Given the description of an element on the screen output the (x, y) to click on. 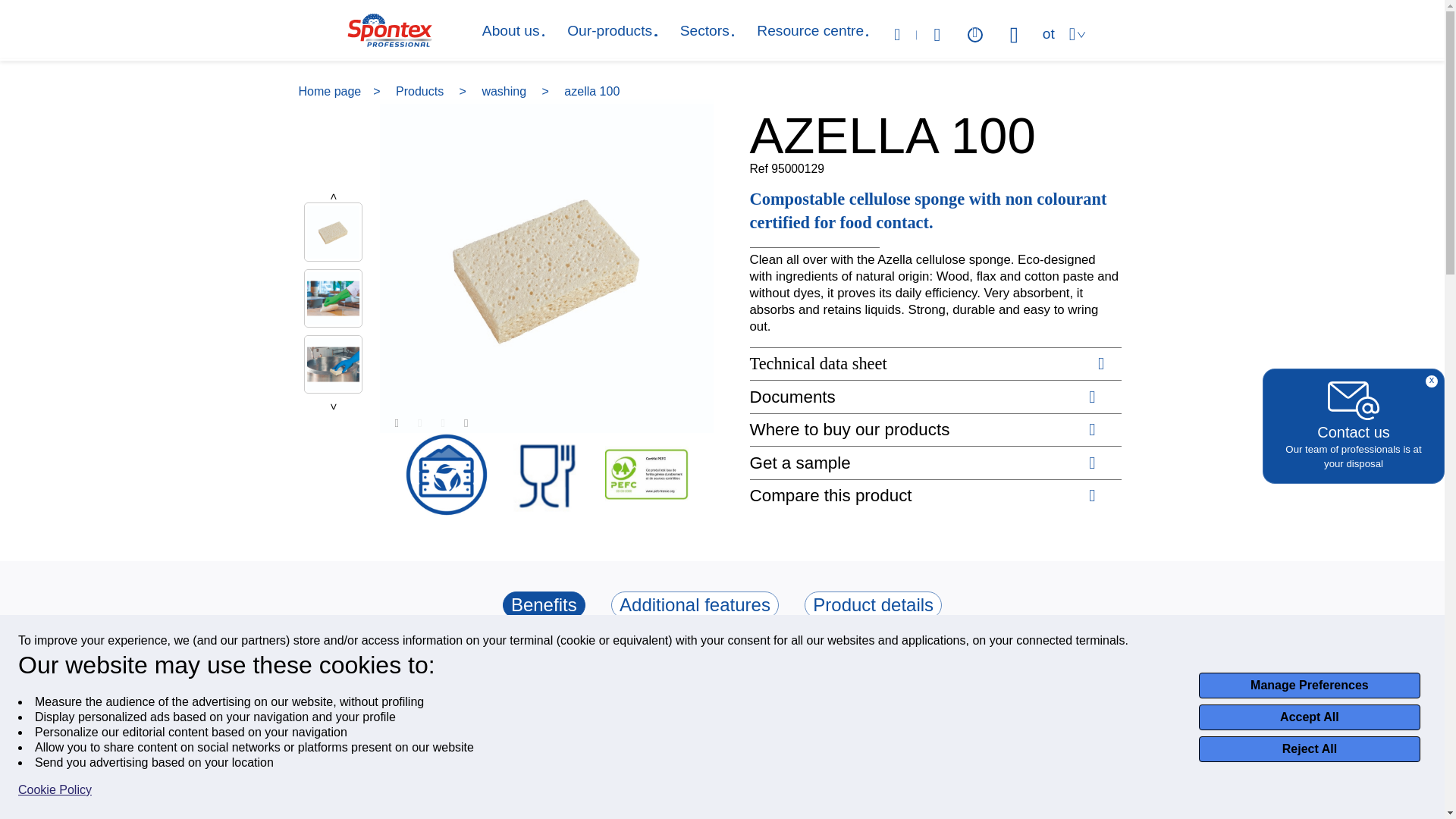
Reject All (1309, 749)
Download centre (975, 34)
About us (510, 30)
Home page (339, 91)
ot (1048, 33)
Manage Preferences (1309, 685)
Cookie Policy (54, 789)
Accept All (1309, 717)
Resource centre (810, 30)
Our-products (609, 30)
search. (901, 35)
washing (505, 91)
Sectors (704, 30)
where to buy our products. (936, 34)
